Given the description of an element on the screen output the (x, y) to click on. 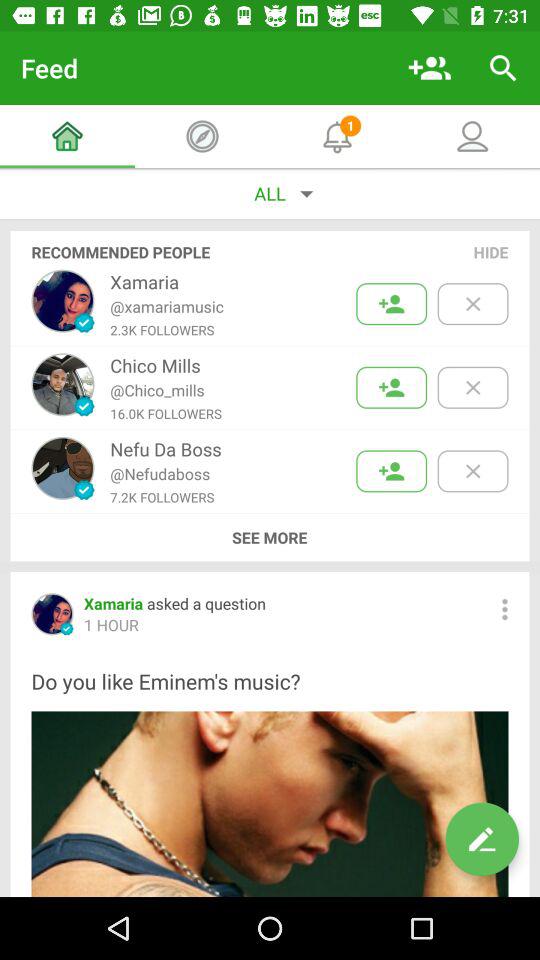
add friend (391, 387)
